Given the description of an element on the screen output the (x, y) to click on. 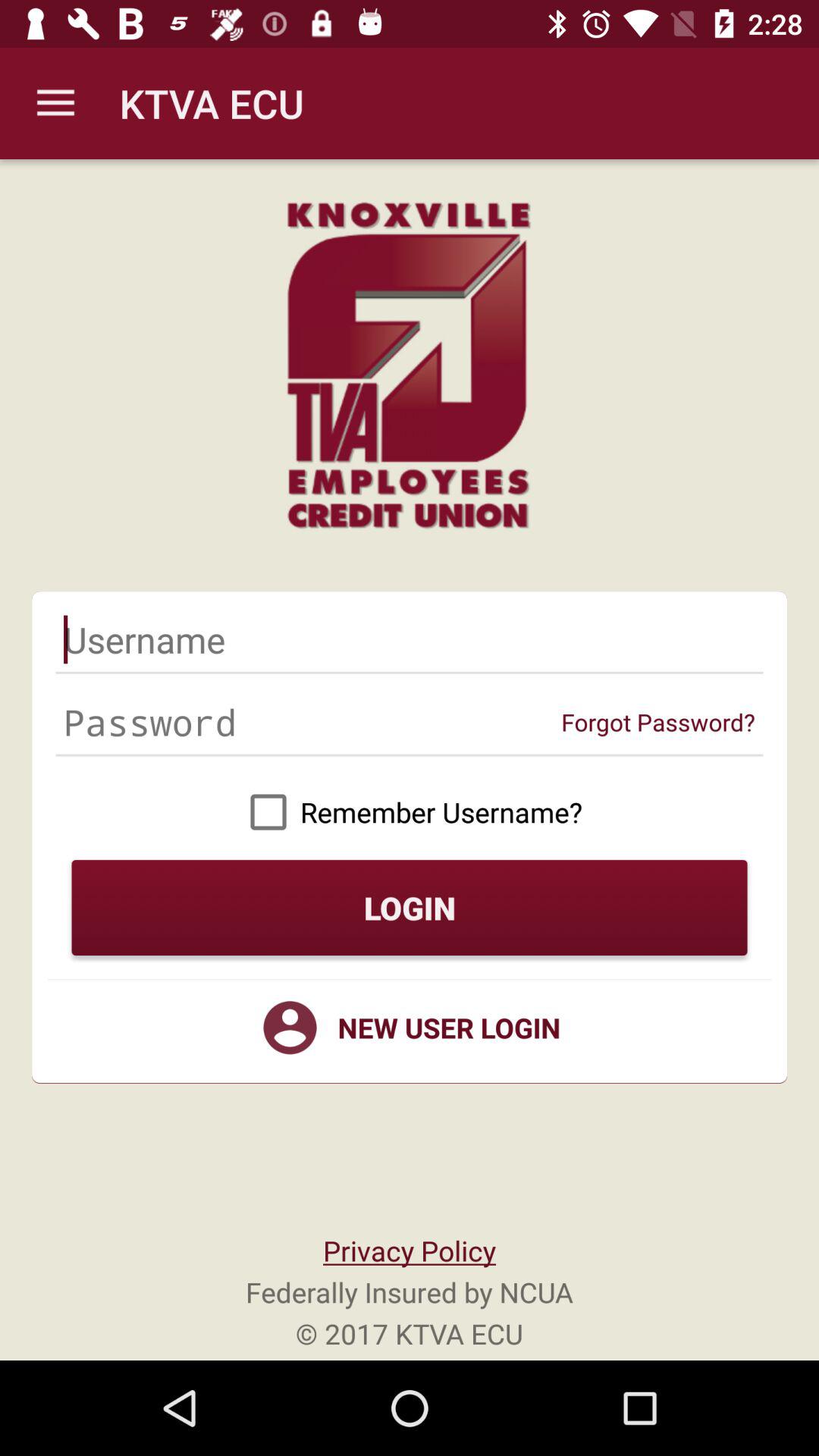
enter password (312, 721)
